Given the description of an element on the screen output the (x, y) to click on. 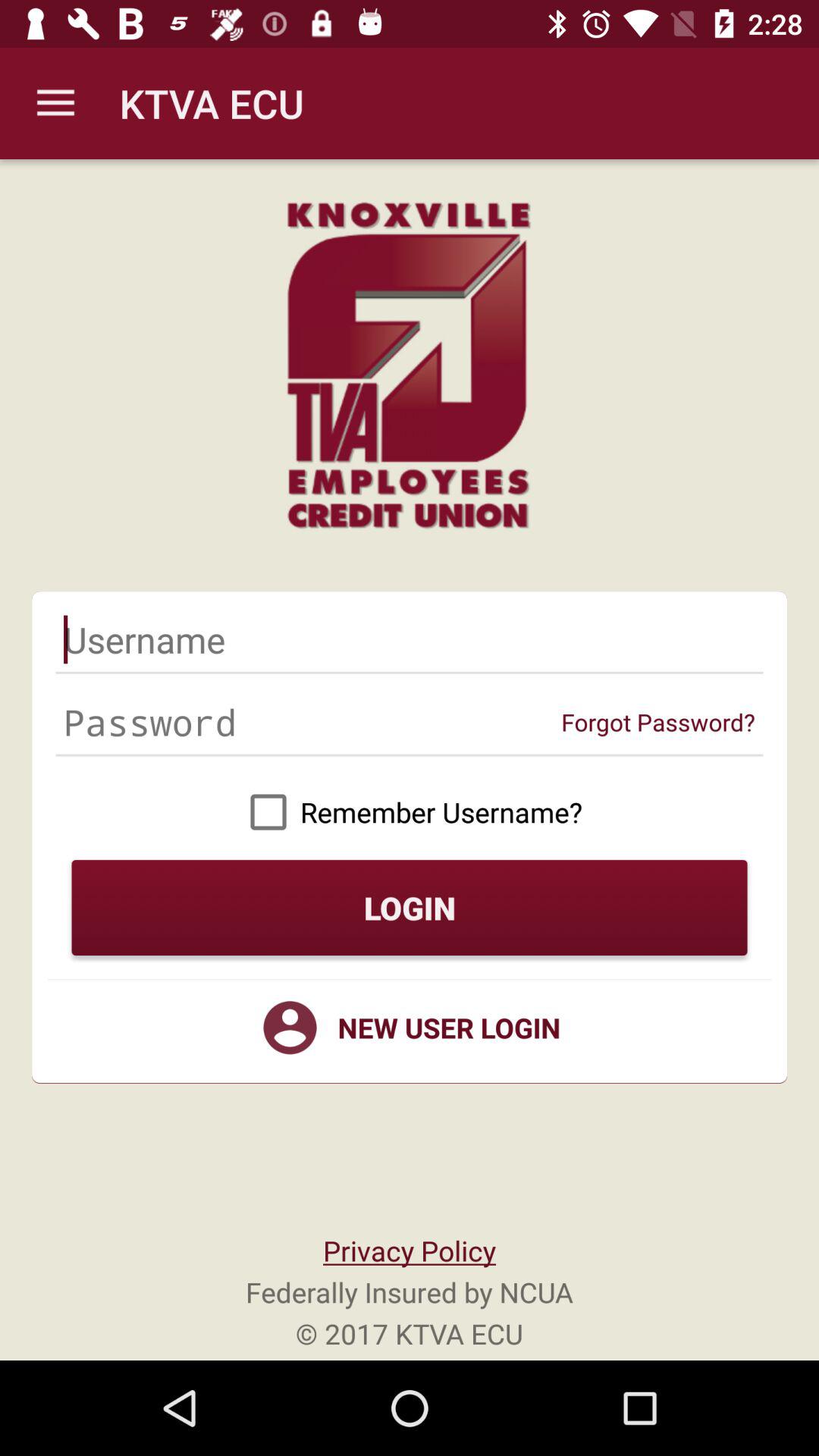
enter password (312, 721)
